Given the description of an element on the screen output the (x, y) to click on. 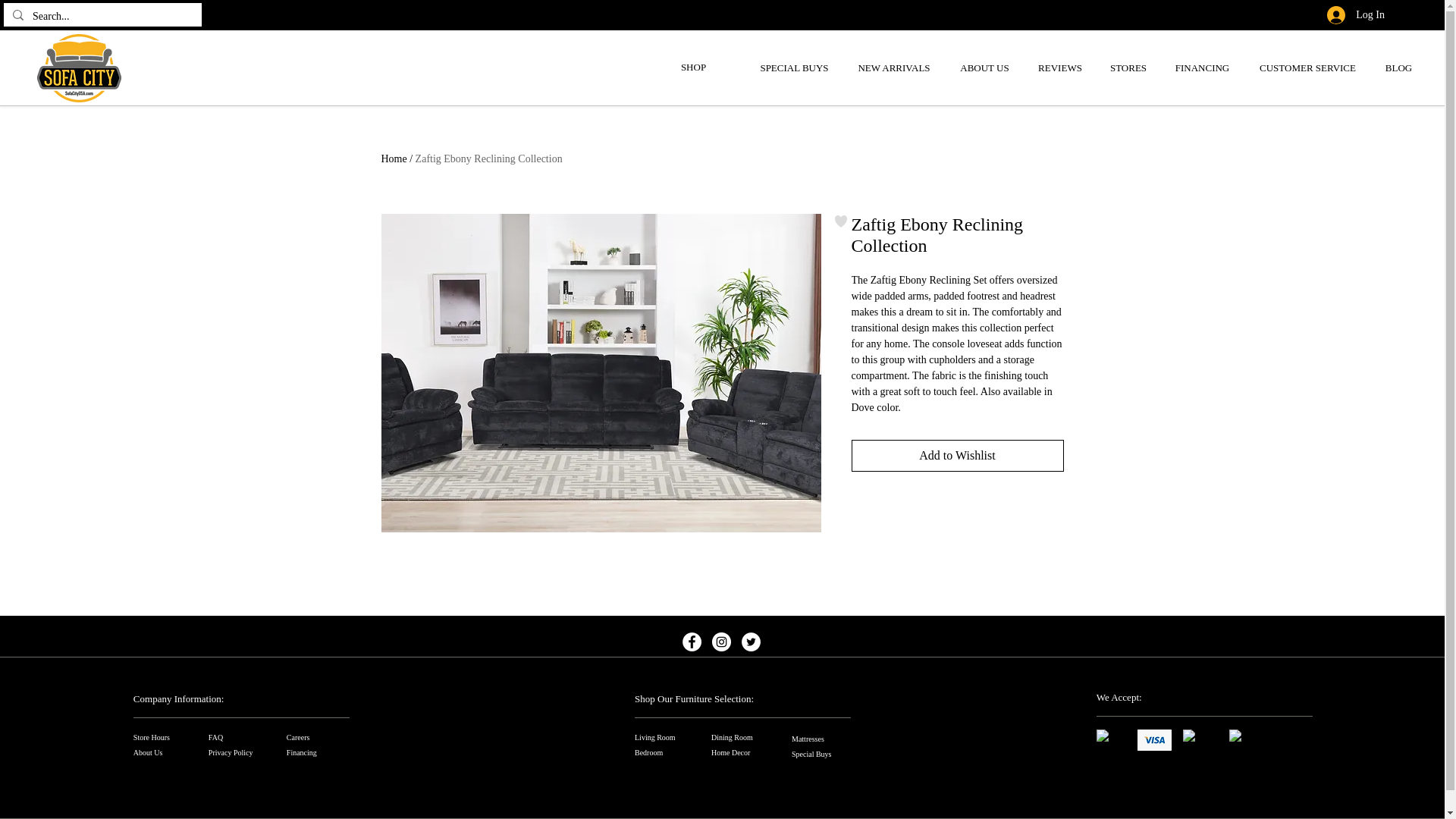
Add to Wishlist (956, 455)
Zaftig Ebony Reclining Collection (488, 158)
REVIEWS (1060, 67)
SHOP (693, 67)
ABOUT US (984, 67)
Home (393, 158)
SPECIAL BUYS (794, 67)
NEW ARRIVALS (893, 67)
BLOG (1398, 67)
Log In (1355, 14)
FINANCING (1201, 67)
